Given the description of an element on the screen output the (x, y) to click on. 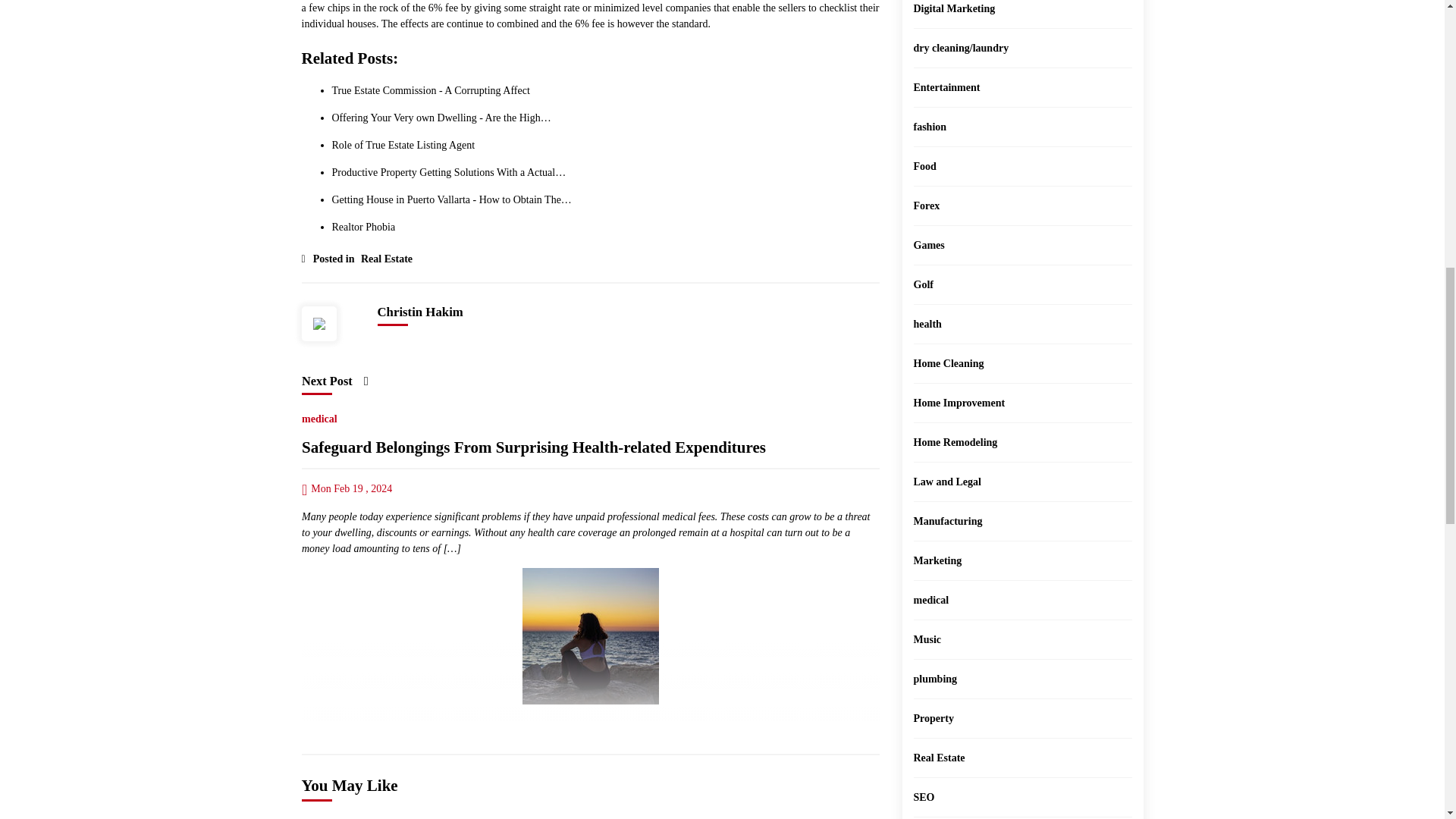
Real Estate (384, 254)
True Estate Commission - A Corrupting Affect (430, 90)
Realtor Phobia (363, 226)
medical (319, 416)
Role of True Estate Listing Agent (403, 144)
Next Post (334, 380)
